Given the description of an element on the screen output the (x, y) to click on. 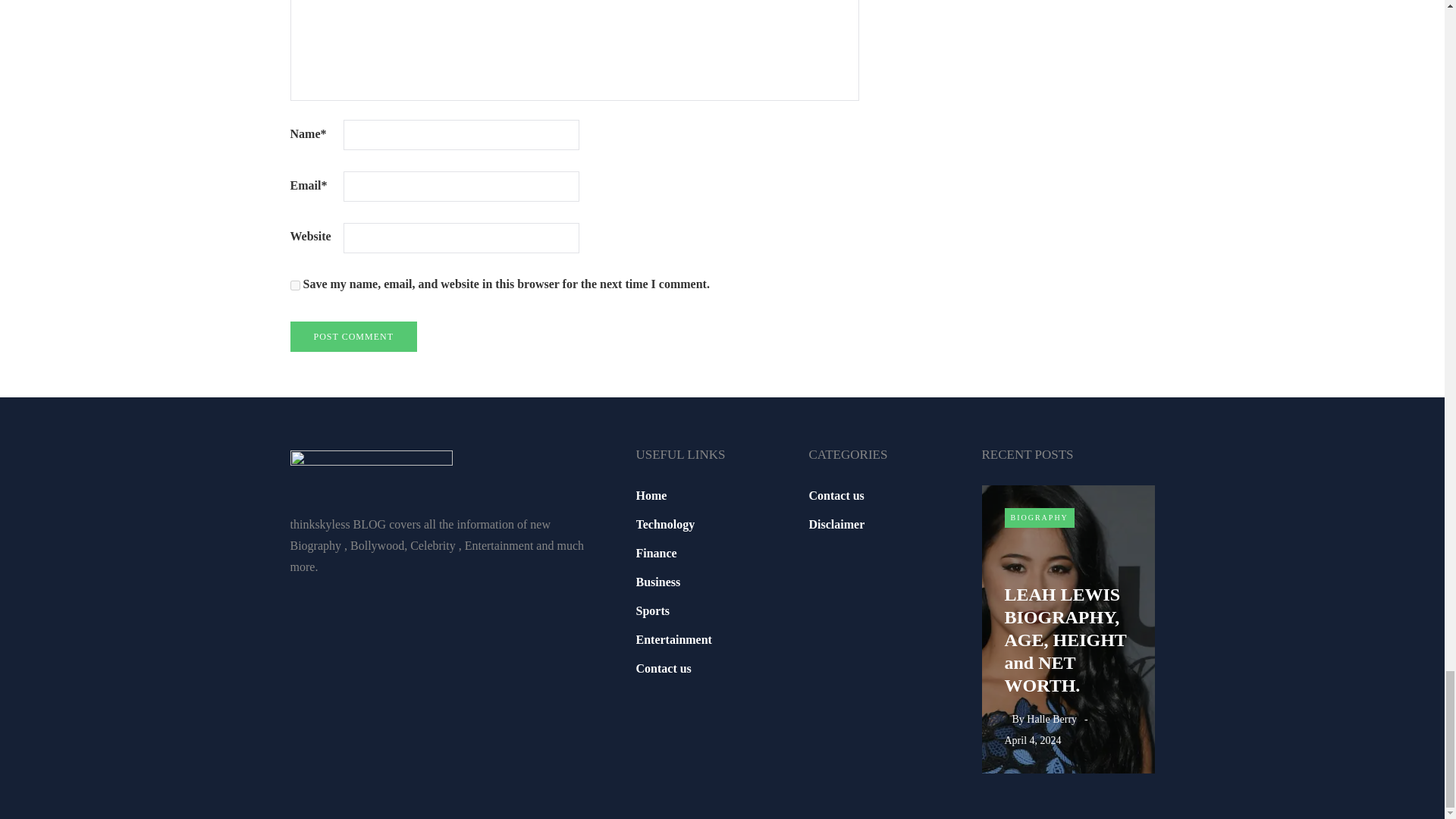
yes (294, 285)
Post comment (352, 336)
